Given the description of an element on the screen output the (x, y) to click on. 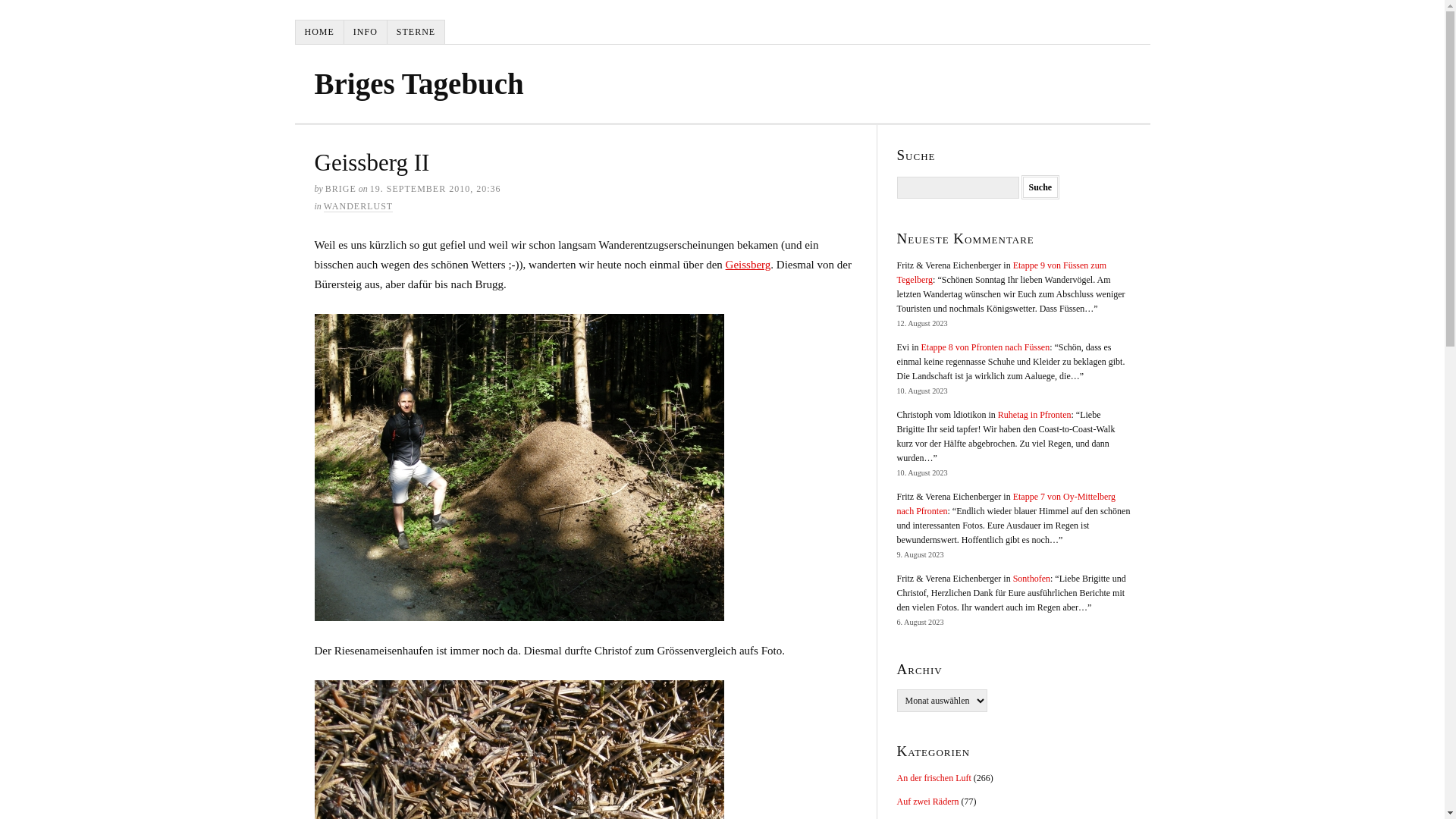
Sonthofen Element type: text (1031, 578)
Etappe 7 von Oy-Mittelberg nach Pfronten Element type: text (1005, 503)
Ruhetag in Pfronten Element type: text (1034, 414)
An der frischen Luft Element type: text (933, 777)
Geissberg Element type: text (748, 264)
WANDERLUST Element type: text (357, 206)
Briges Tagebuch Element type: text (418, 83)
STERNE Element type: text (416, 31)
INFO Element type: text (365, 31)
HOME Element type: text (319, 31)
Suche Element type: text (1039, 187)
Ameisenhaufen Element type: hover (518, 467)
